Given the description of an element on the screen output the (x, y) to click on. 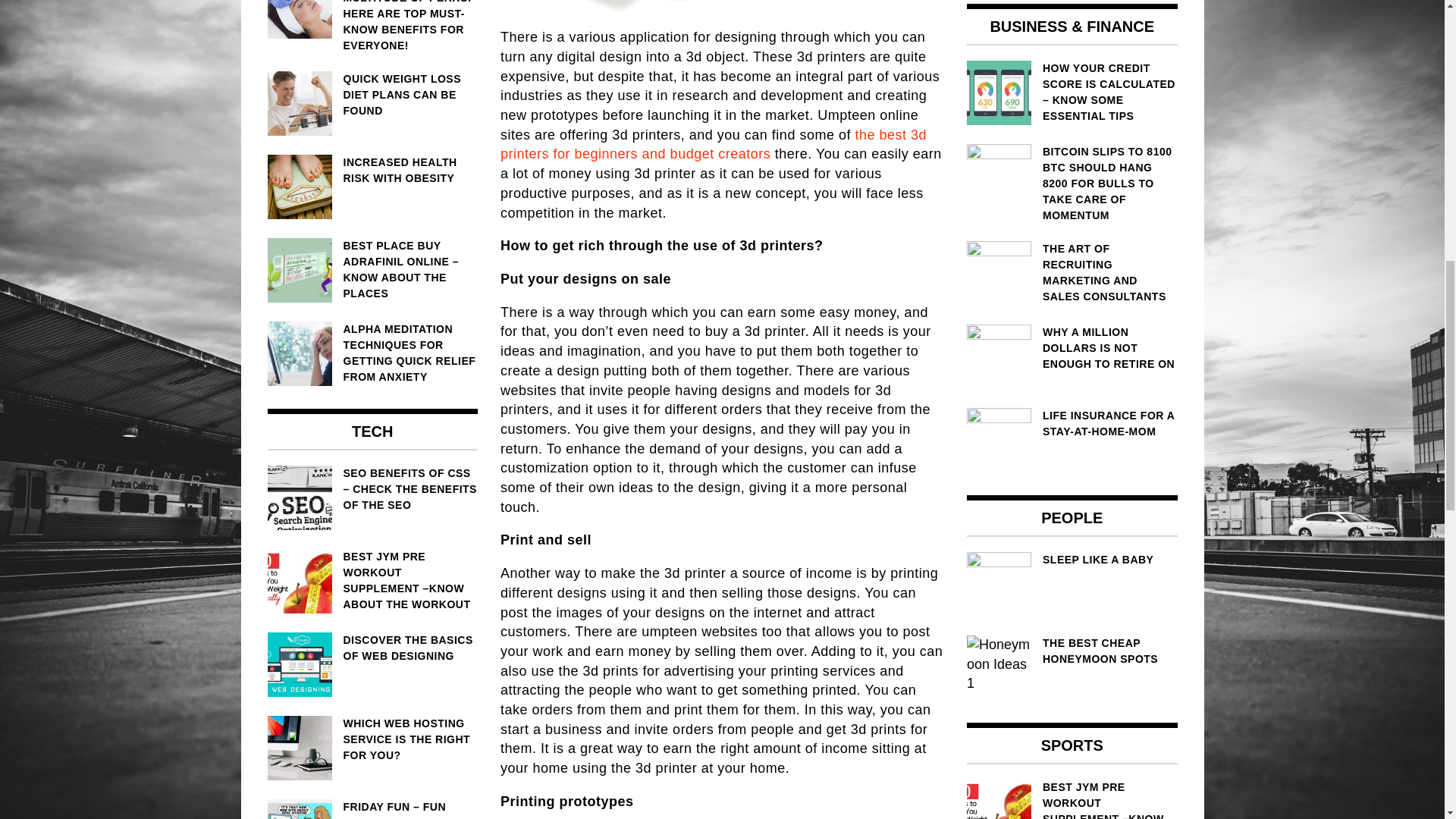
the best 3d printers for beginners and budget creators (713, 144)
INCREASED HEALTH RISK WITH OBESITY (371, 170)
DISCOVER THE BASICS OF WEB DESIGNING (371, 648)
QUICK WEIGHT LOSS DIET PLANS CAN BE FOUND (371, 94)
WHICH WEB HOSTING SERVICE IS THE RIGHT FOR YOU? (371, 739)
